Given the description of an element on the screen output the (x, y) to click on. 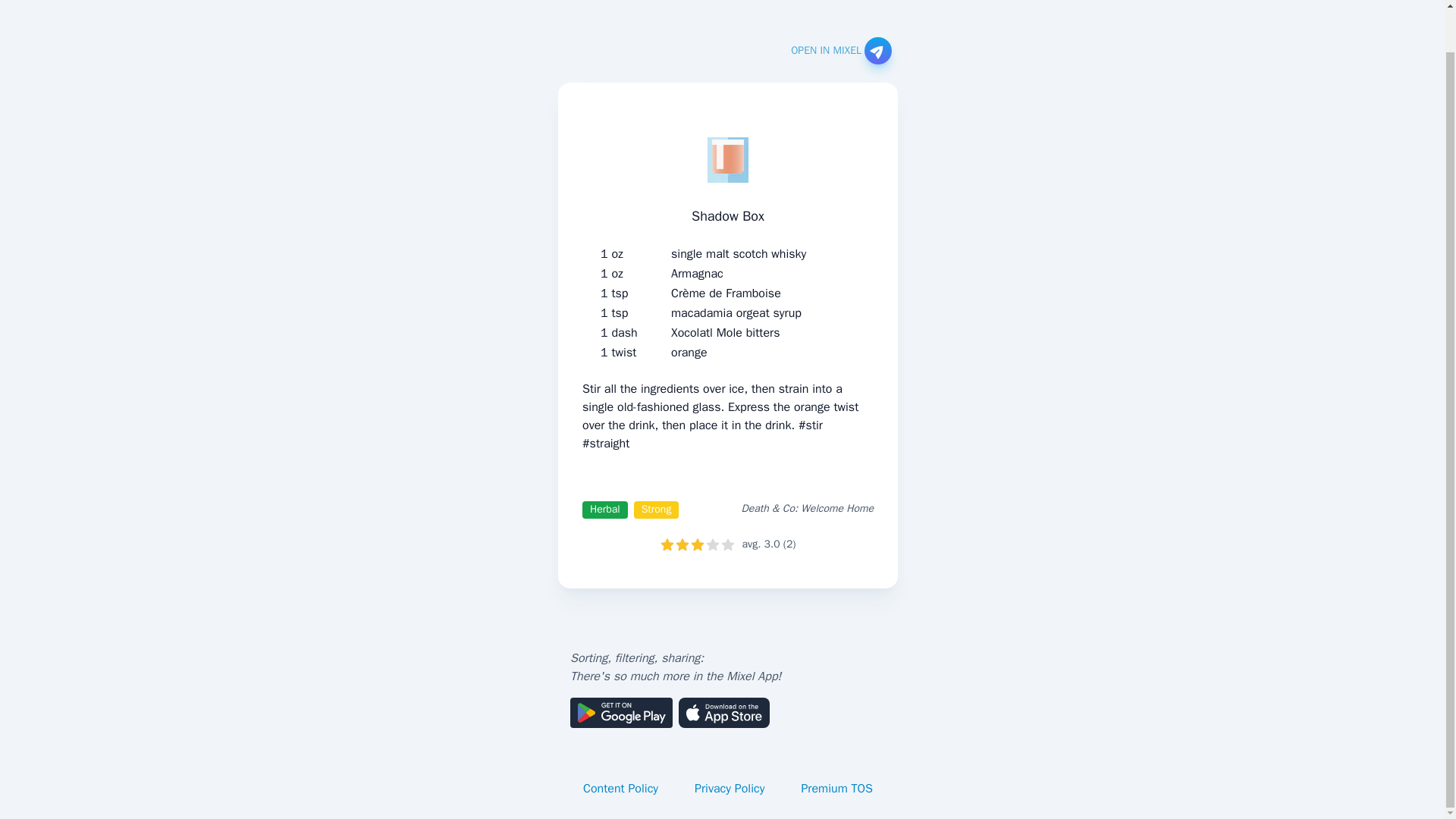
Premium TOS (836, 788)
orange (689, 352)
OPEN IN MIXEL (840, 50)
Armagnac (697, 273)
Content Policy (620, 788)
Privacy Policy (729, 788)
macadamia orgeat syrup (736, 312)
single malt scotch whisky (738, 253)
Xocolatl Mole bitters (724, 332)
